Given the description of an element on the screen output the (x, y) to click on. 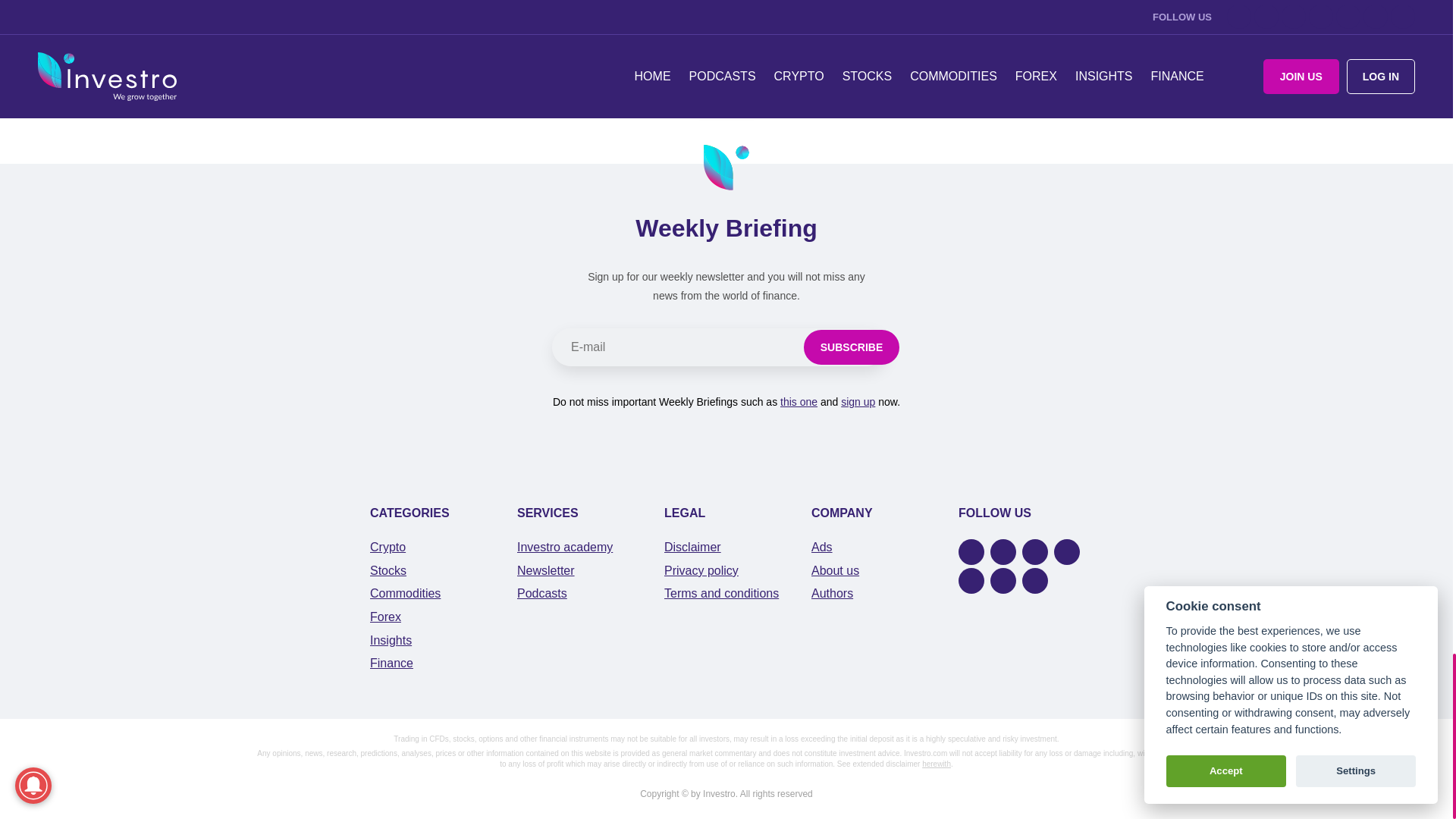
Subscribe (851, 347)
